Given the description of an element on the screen output the (x, y) to click on. 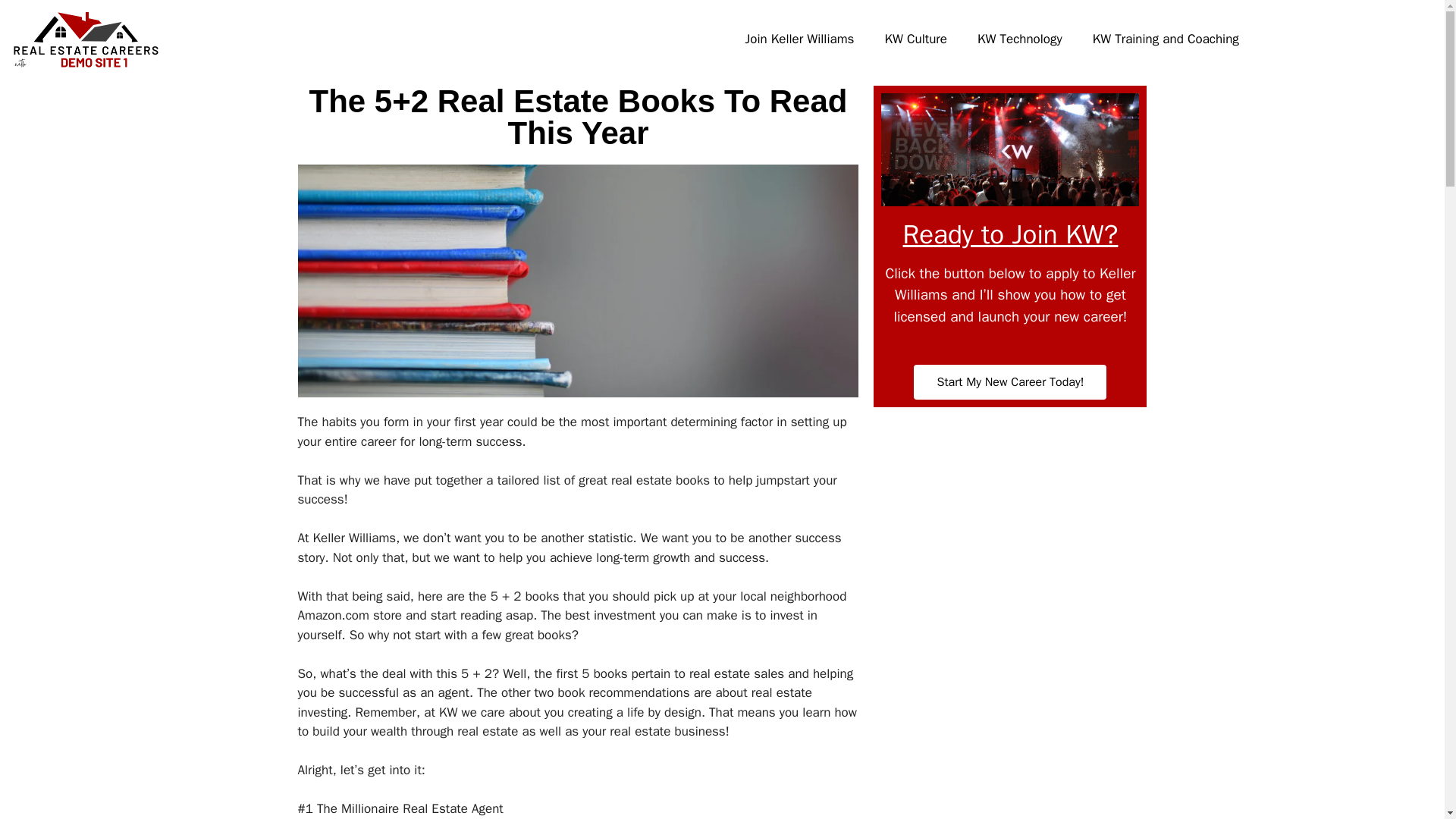
Start My New Career Today! (1010, 381)
Join Keller Williams (799, 38)
KW Culture (915, 38)
KW Training and Coaching (1165, 38)
KW Technology (1019, 38)
